Given the description of an element on the screen output the (x, y) to click on. 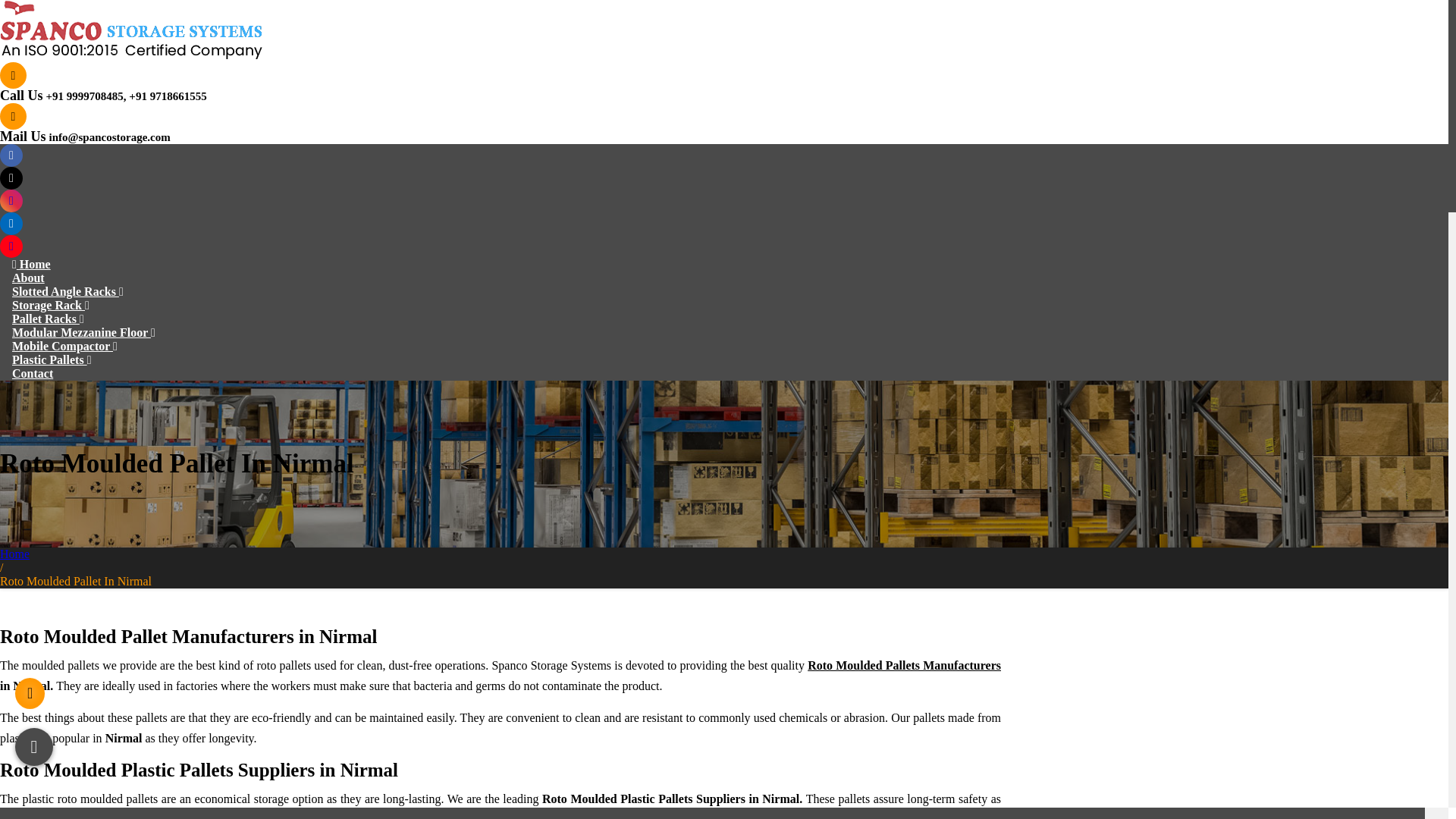
Slotted Angle Racks (67, 291)
Twitter (11, 177)
Home (30, 264)
About (28, 277)
Instagram (11, 200)
Spanco Storage Systems (131, 29)
Slotted Angle Racks (67, 291)
Linkedin (11, 223)
Youtube (11, 245)
Storage Rack (49, 305)
